Given the description of an element on the screen output the (x, y) to click on. 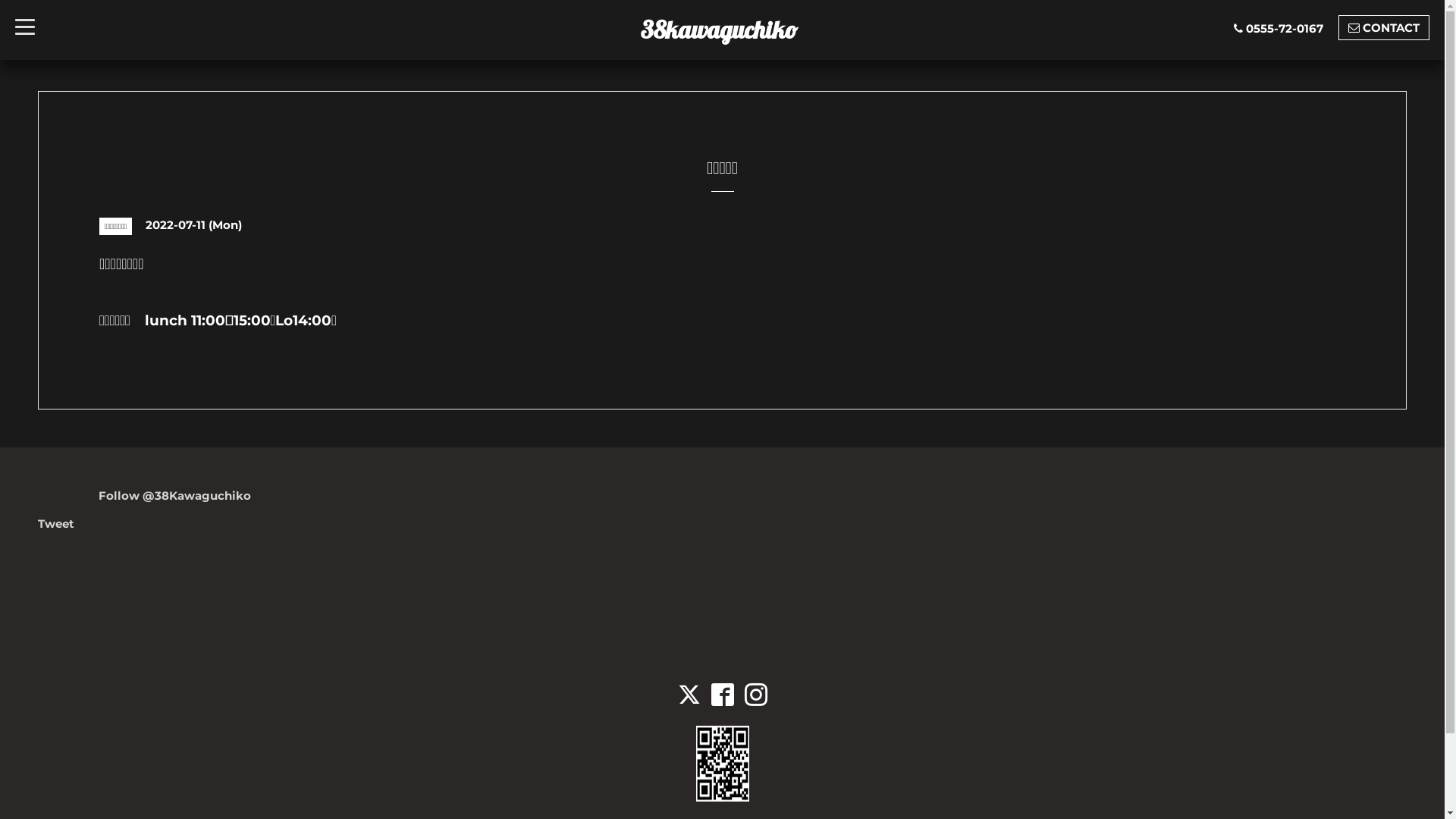
Tweet Element type: text (55, 523)
toggle navigation Element type: text (25, 22)
Follow @38Kawaguchiko Element type: text (174, 495)
38kawaguchiko Element type: text (718, 29)
